Given the description of an element on the screen output the (x, y) to click on. 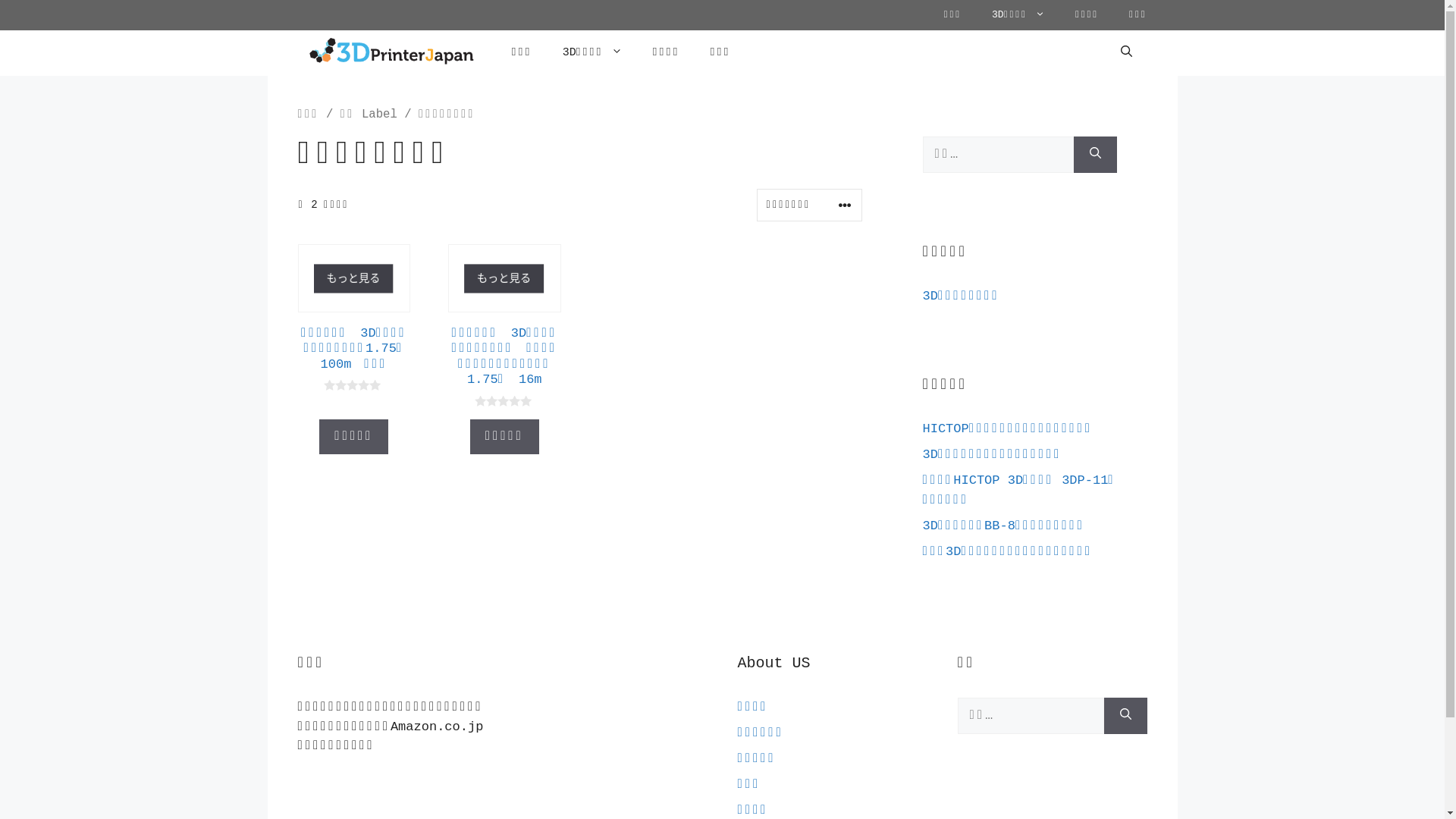
Not yet rated Element type: hover (353, 385)
Not yet rated Element type: hover (504, 401)
